Given the description of an element on the screen output the (x, y) to click on. 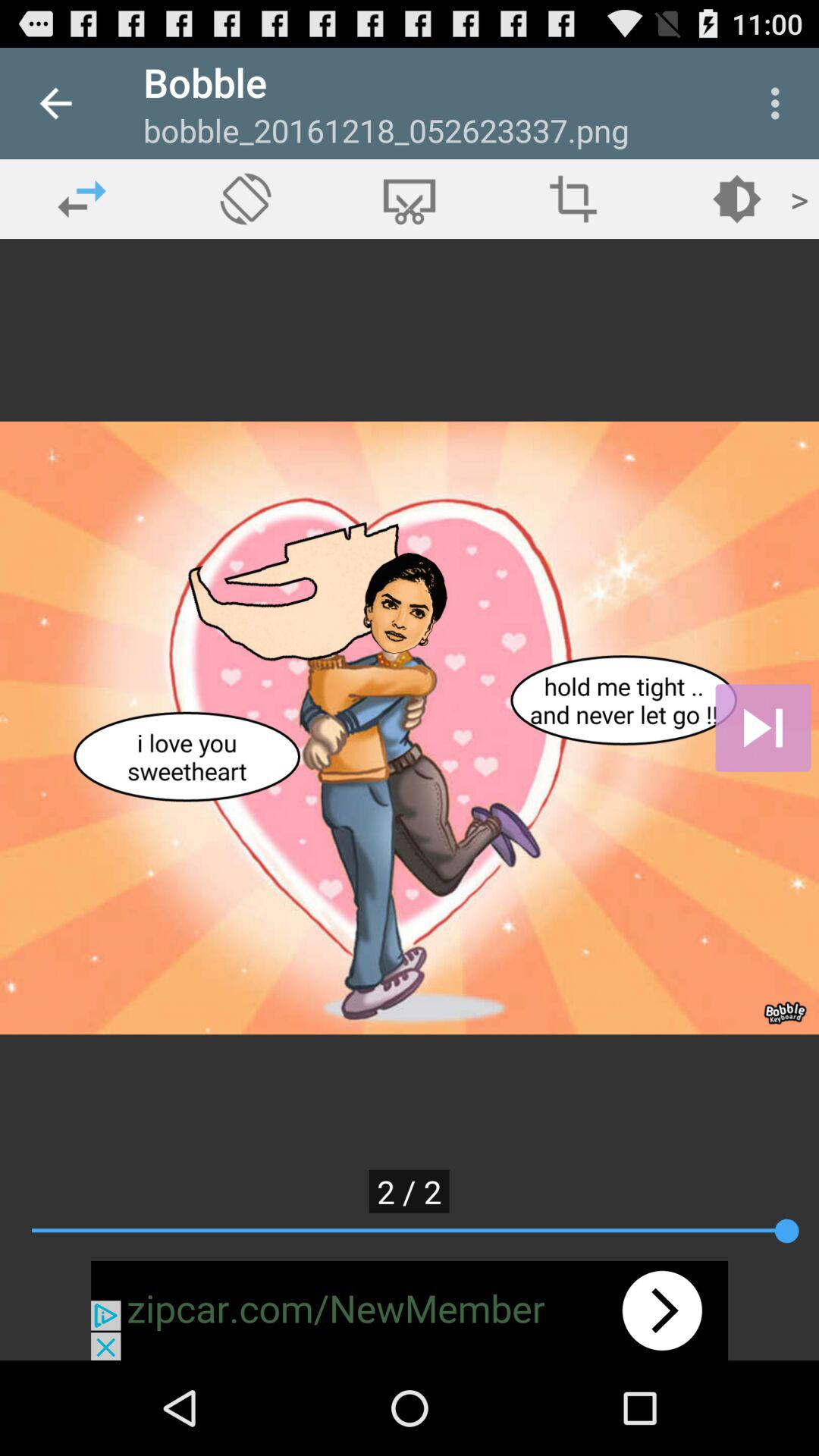
edit picture (409, 198)
